Given the description of an element on the screen output the (x, y) to click on. 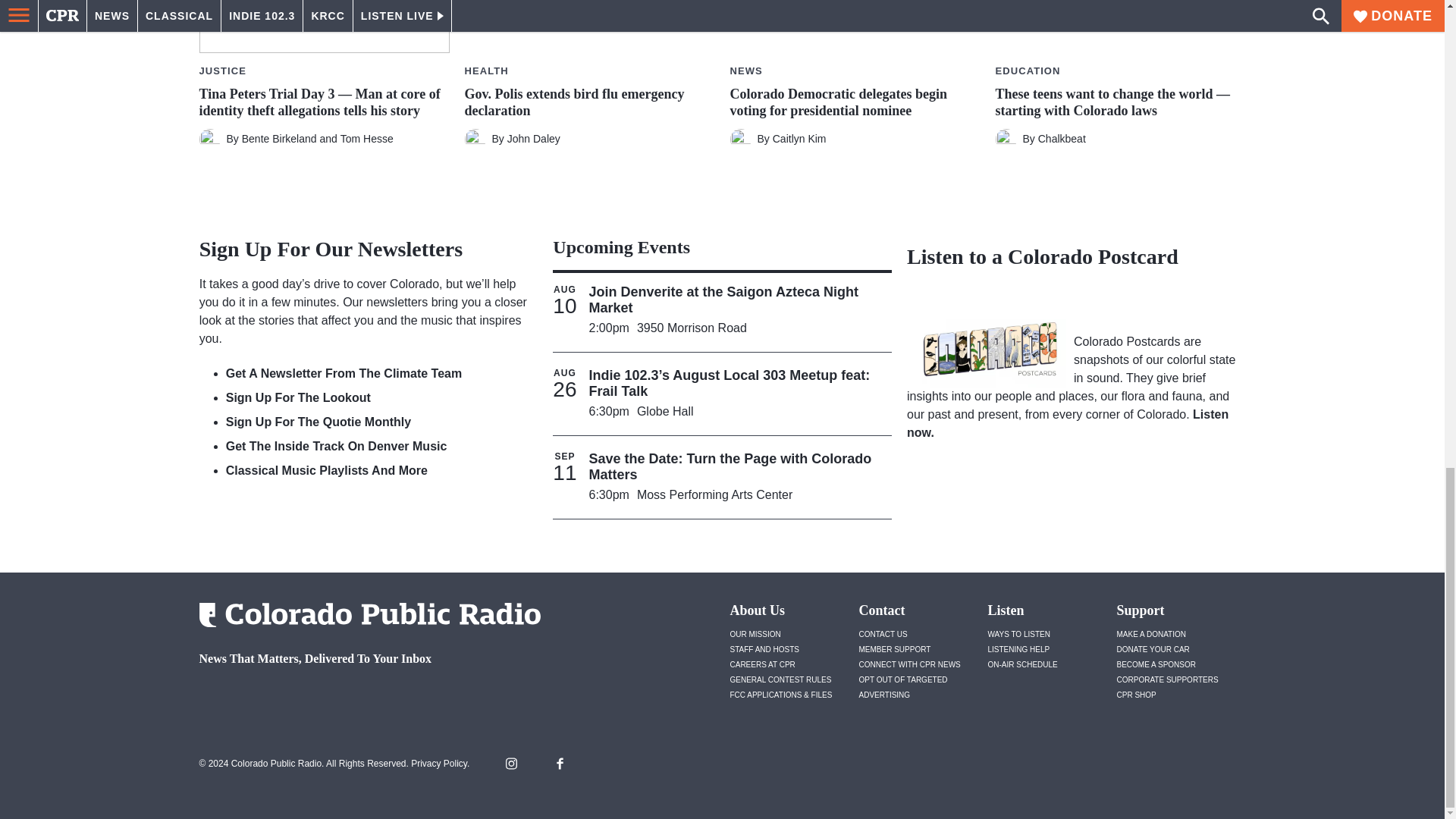
footer (364, 699)
